Given the description of an element on the screen output the (x, y) to click on. 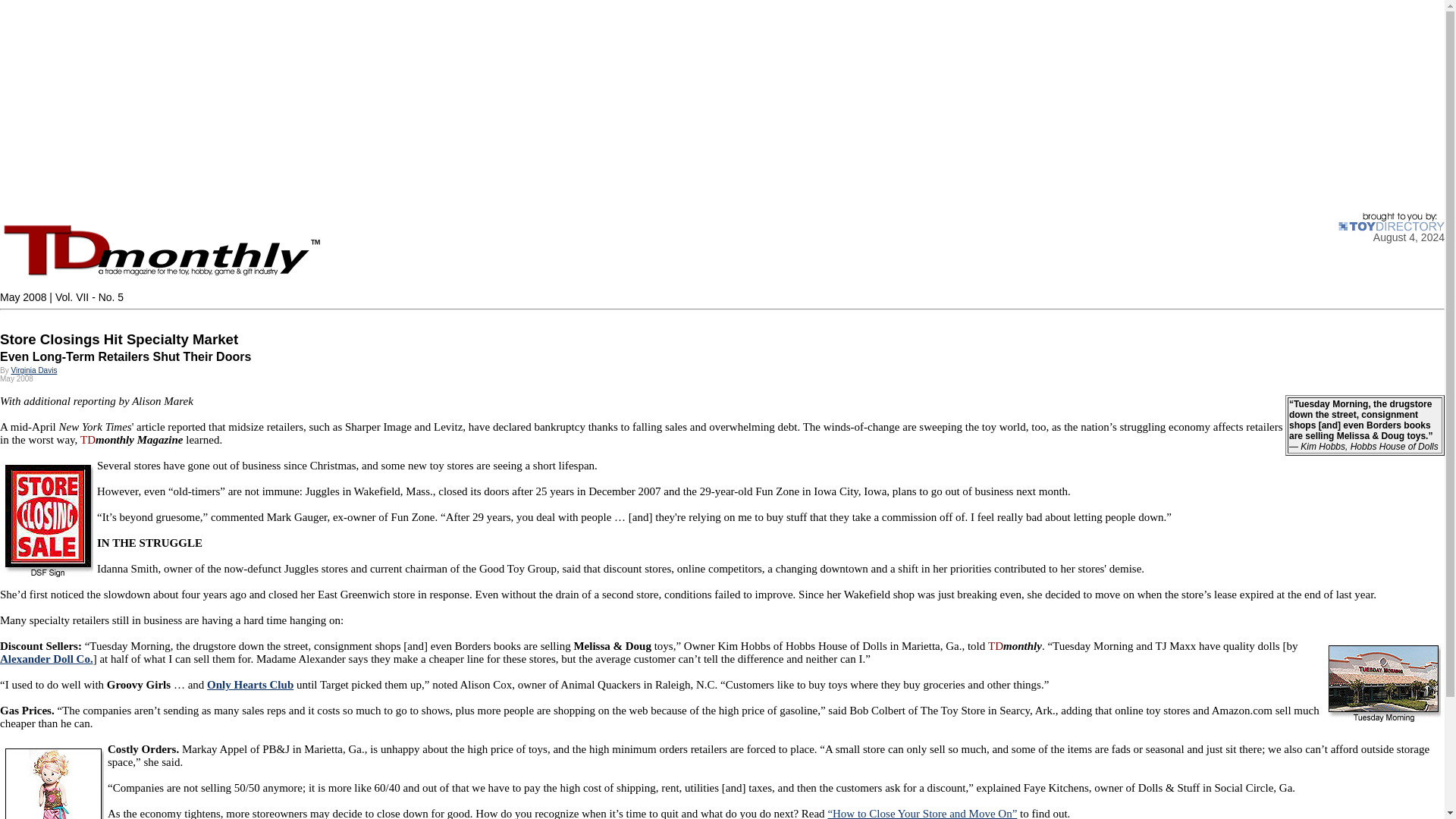
Only Hearts Club (250, 684)
Alexander Doll Co. (46, 658)
Virginia Davis (33, 370)
